Given the description of an element on the screen output the (x, y) to click on. 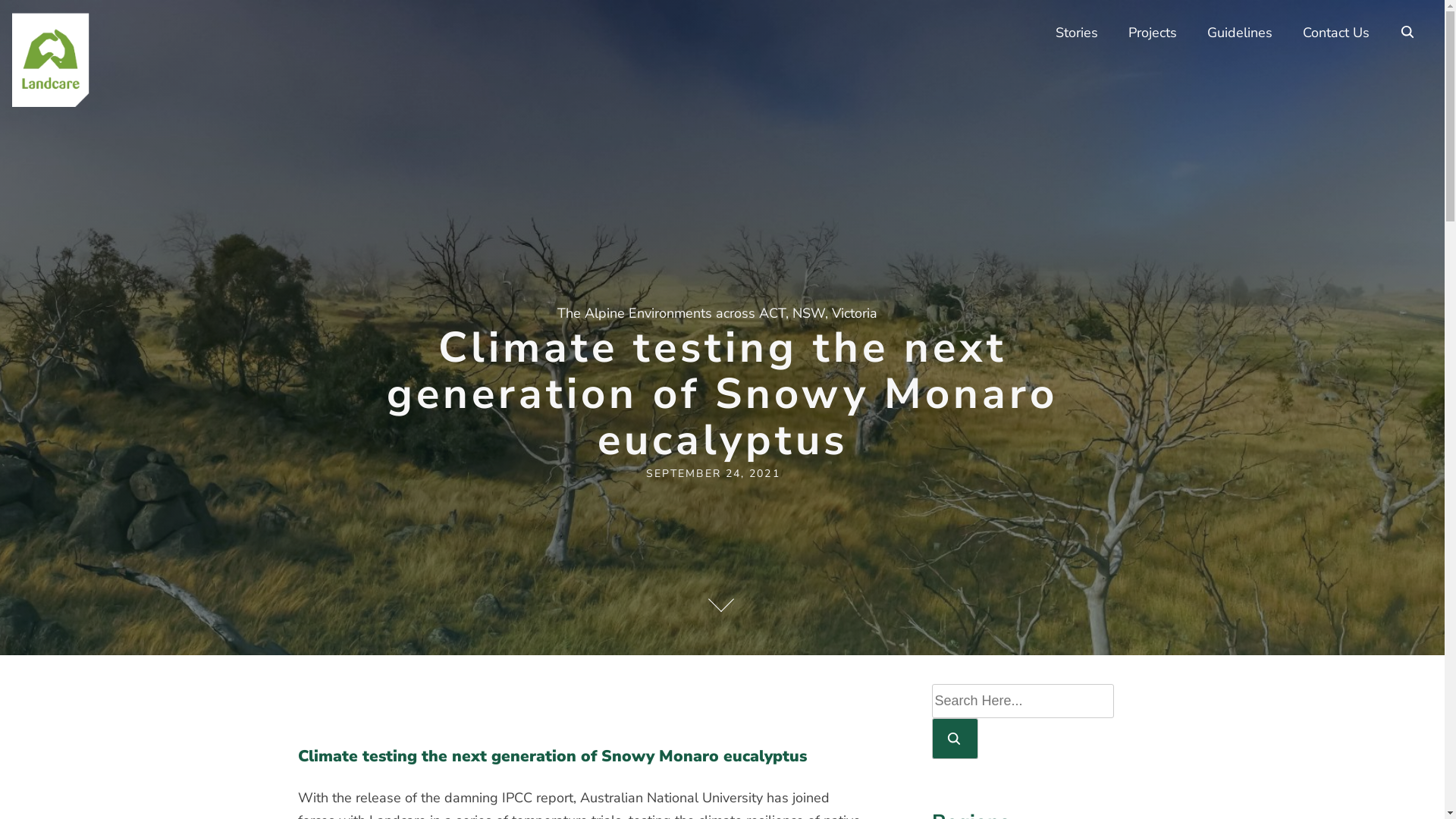
Projects Element type: text (1152, 32)
Contact Us Element type: text (1335, 32)
Search Element type: text (954, 738)
Search
Search Element type: text (1408, 32)
Stories Element type: text (1076, 32)
SEPTEMBER 24, 2021 Element type: text (713, 473)
Guidelines Element type: text (1239, 32)
The Alpine Environments across ACT, NSW, Victoria Element type: text (722, 313)
